Given the description of an element on the screen output the (x, y) to click on. 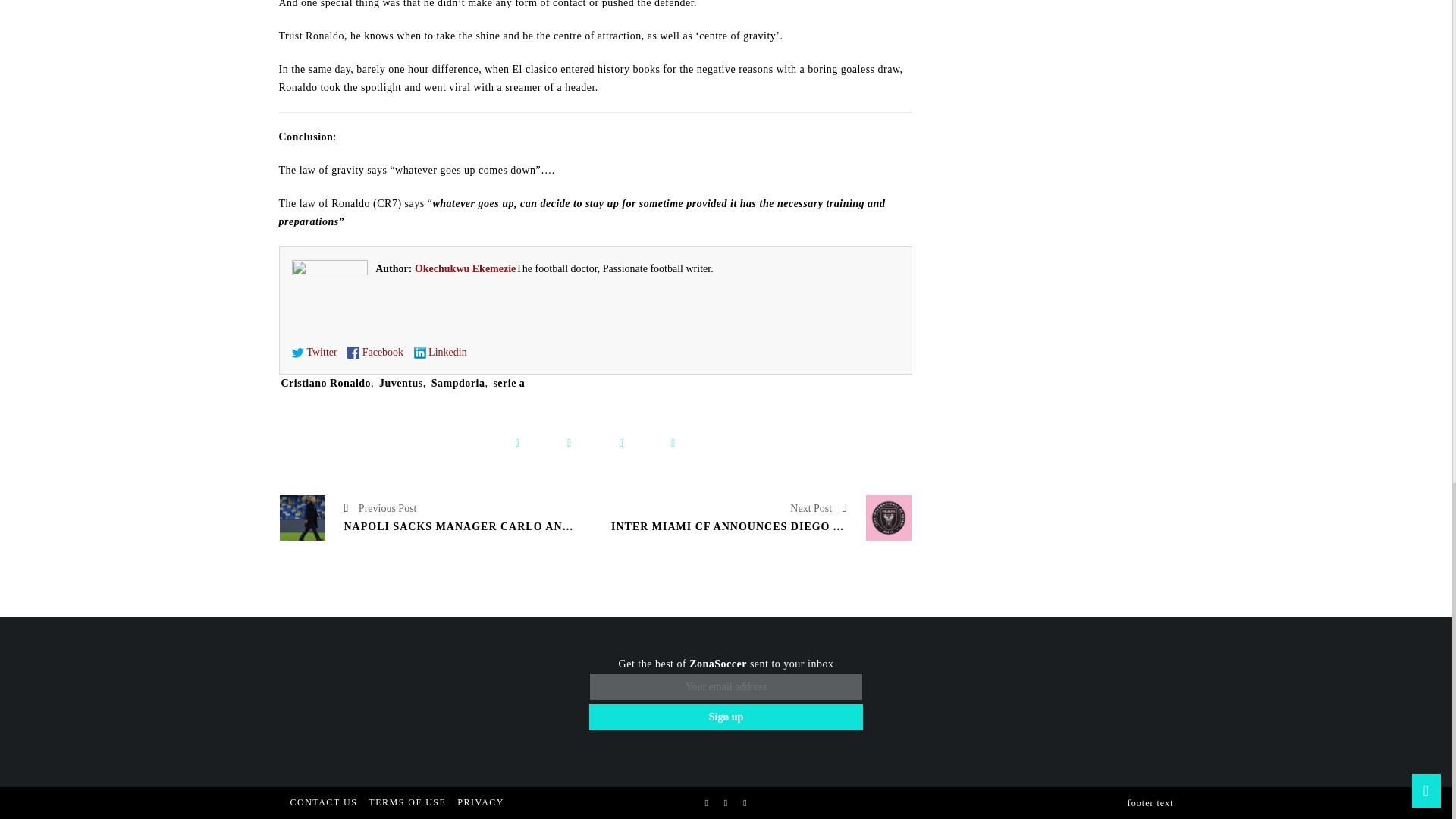
Sign up (726, 717)
Facebook (375, 351)
Linkedin (440, 351)
Click to share this post on Linkedin (672, 443)
Click to share this post on Facebook (517, 443)
Twitter (314, 351)
Okechukwu Ekemezie (464, 268)
Visitar el sitio de Okechukwu Ekemezie (464, 268)
Click to share this post on Twitter (569, 443)
Cristiano Ronaldo (326, 383)
